Given the description of an element on the screen output the (x, y) to click on. 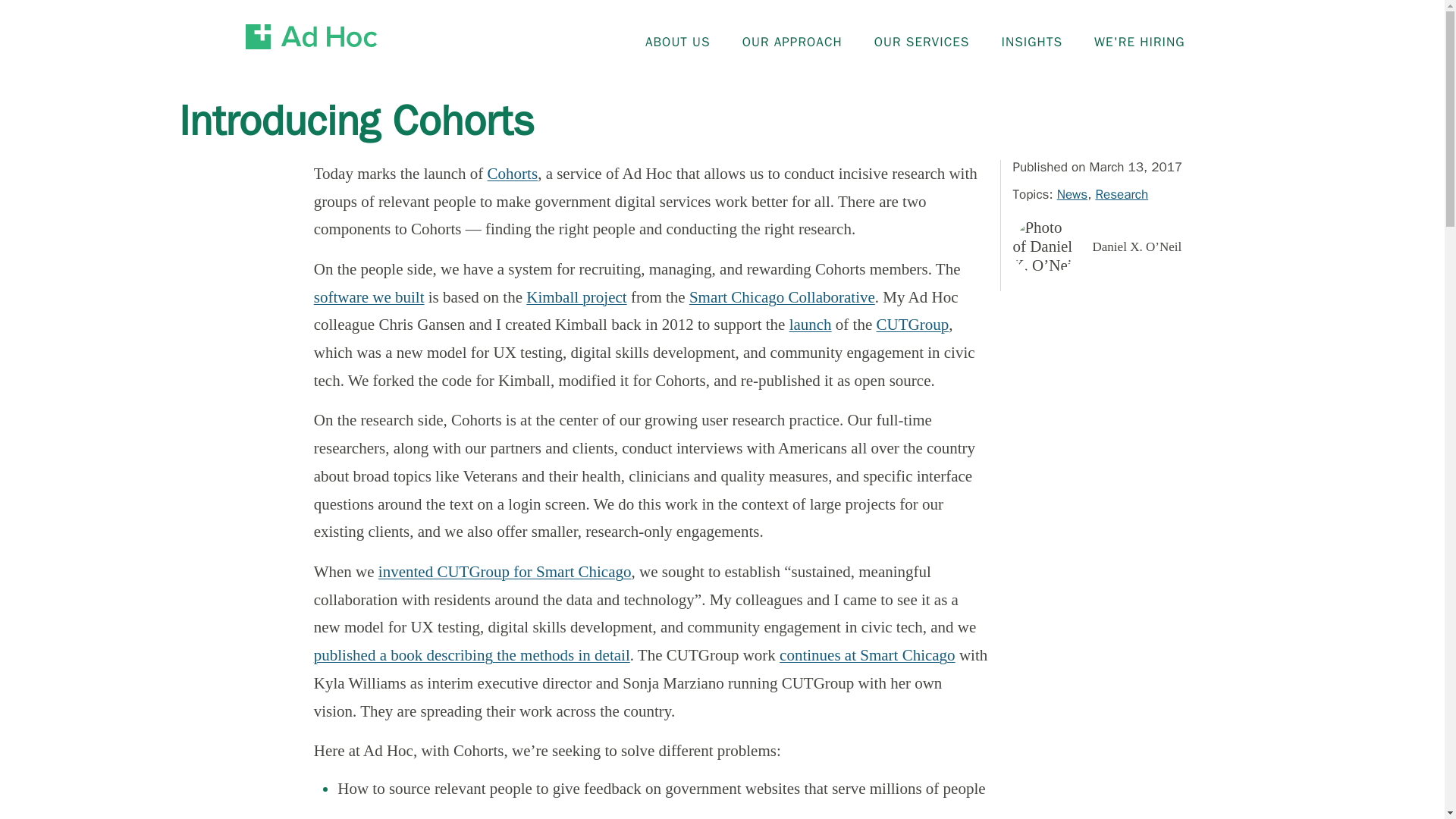
CUTGroup (912, 324)
WE'RE HIRING (1139, 37)
software we built (369, 297)
Cohorts (512, 173)
published a book describing the methods in detail (472, 655)
News (1072, 194)
invented CUTGroup for Smart Chicago (504, 571)
Kimball project (575, 297)
launch (810, 324)
OUR SERVICES (921, 37)
